Given the description of an element on the screen output the (x, y) to click on. 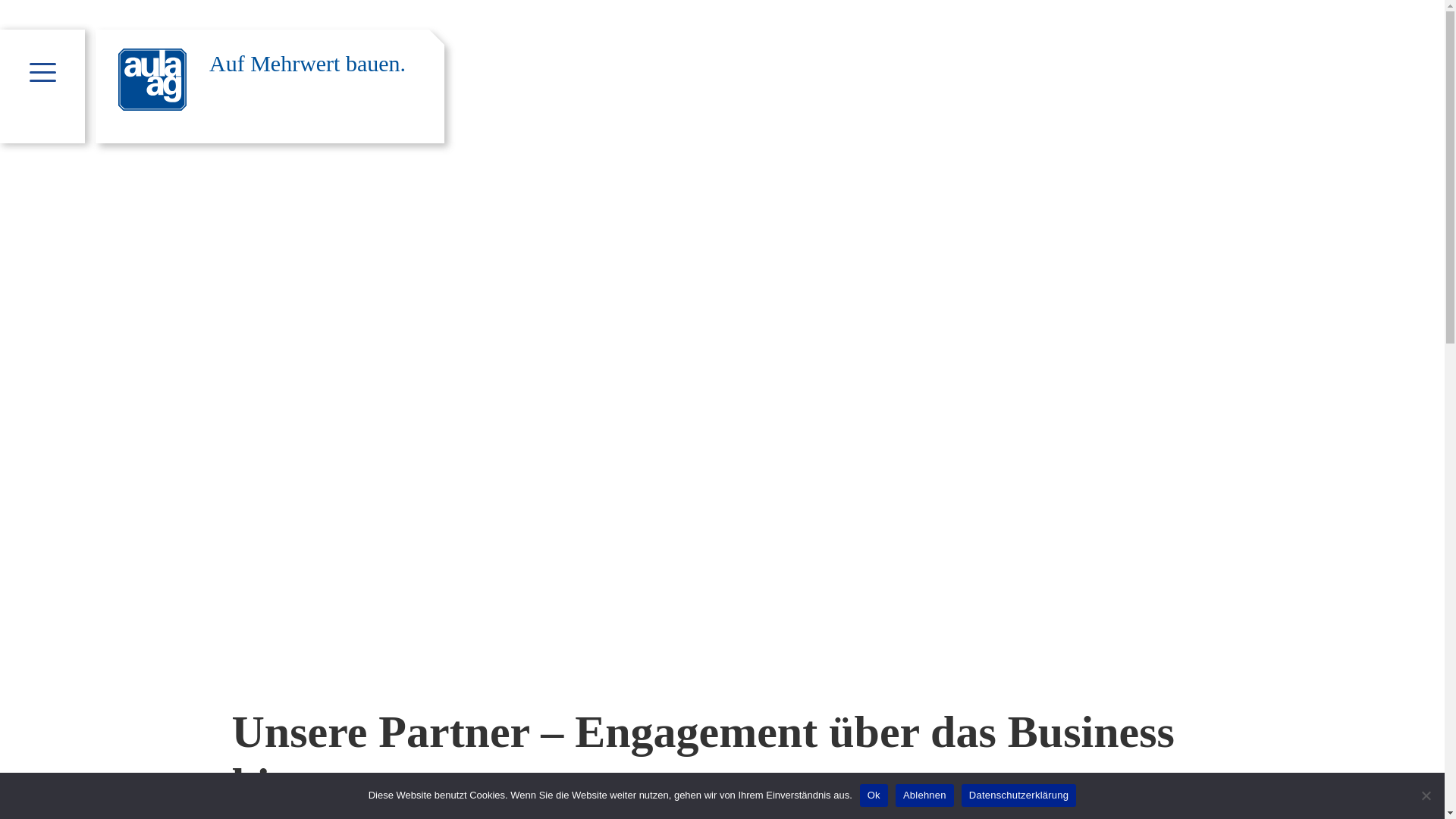
Ok Element type: text (873, 795)
Suche Element type: text (200, 11)
Ablehnen Element type: text (924, 795)
Ablehnen Element type: hover (1425, 795)
